Given the description of an element on the screen output the (x, y) to click on. 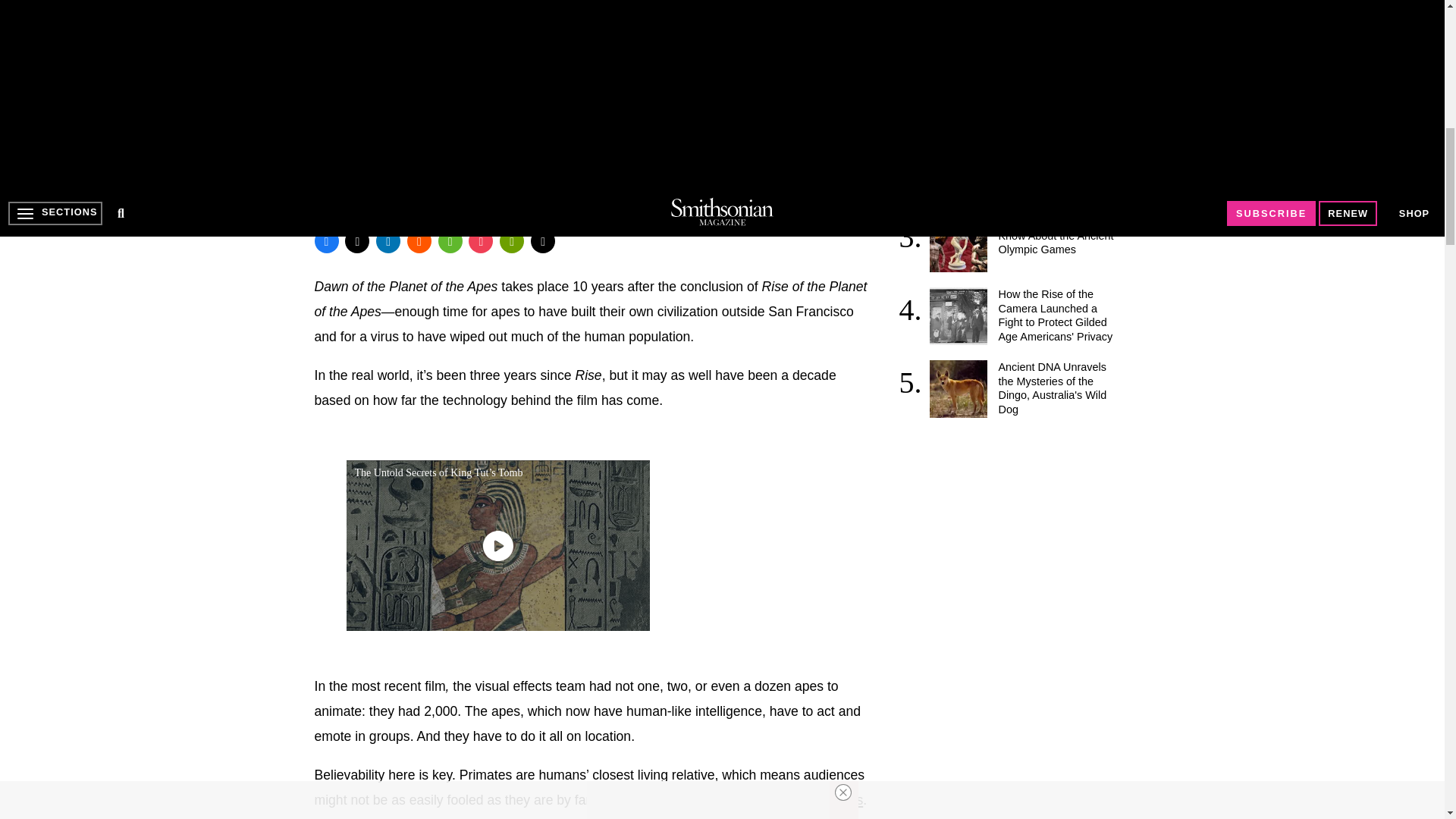
Facebook (325, 241)
Twitter (357, 241)
WhatsApp (450, 241)
Email (542, 241)
Print (511, 241)
Reddit (418, 241)
Pocket (480, 241)
LinkedIn (387, 241)
3rd party ad content (1015, 531)
